Given the description of an element on the screen output the (x, y) to click on. 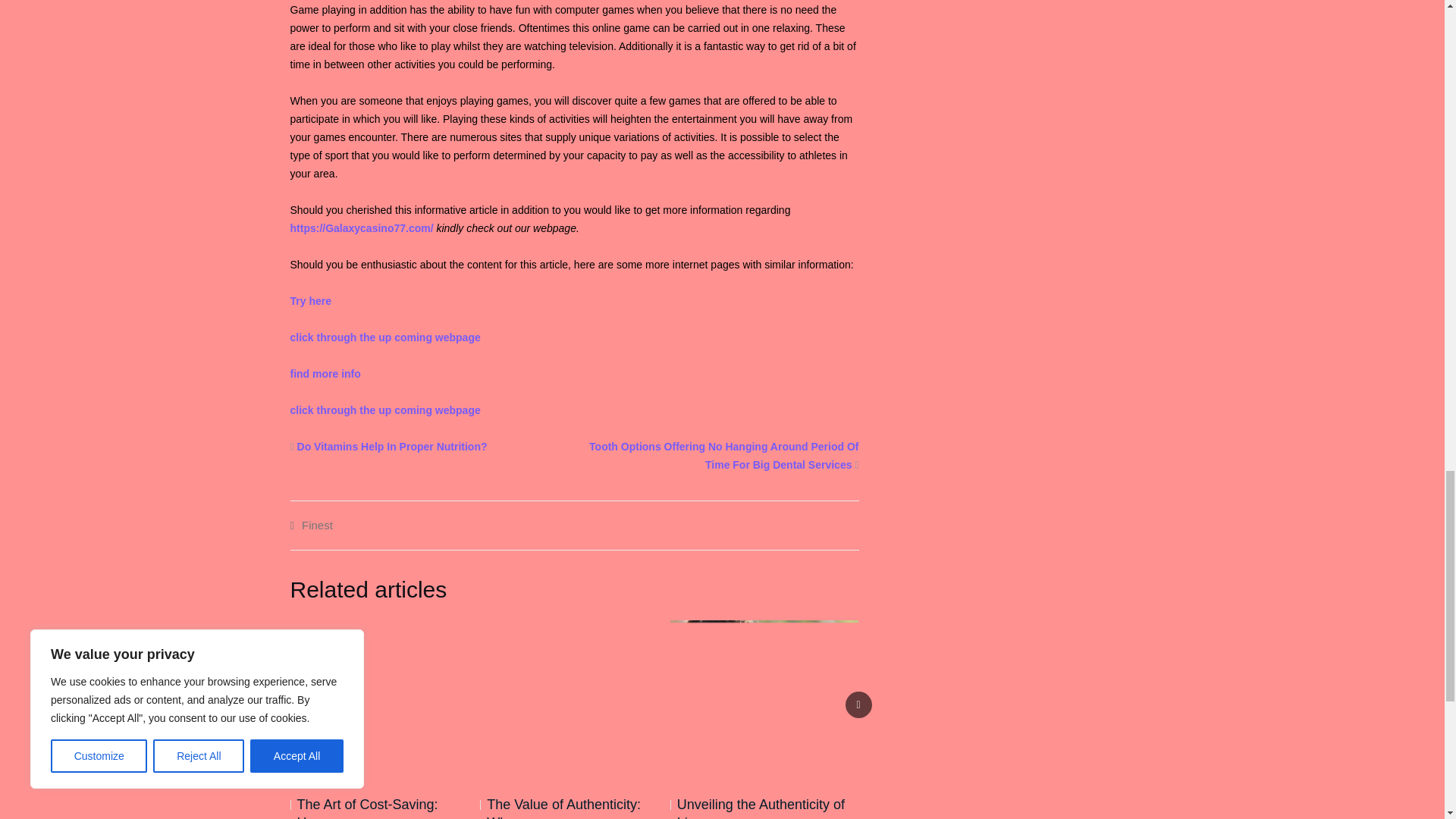
Try here (309, 300)
Finest (317, 524)
find more info (324, 373)
Do Vitamins Help In Proper Nutrition? (392, 446)
click through the up coming webpage (384, 410)
click through the up coming webpage (384, 337)
